Given the description of an element on the screen output the (x, y) to click on. 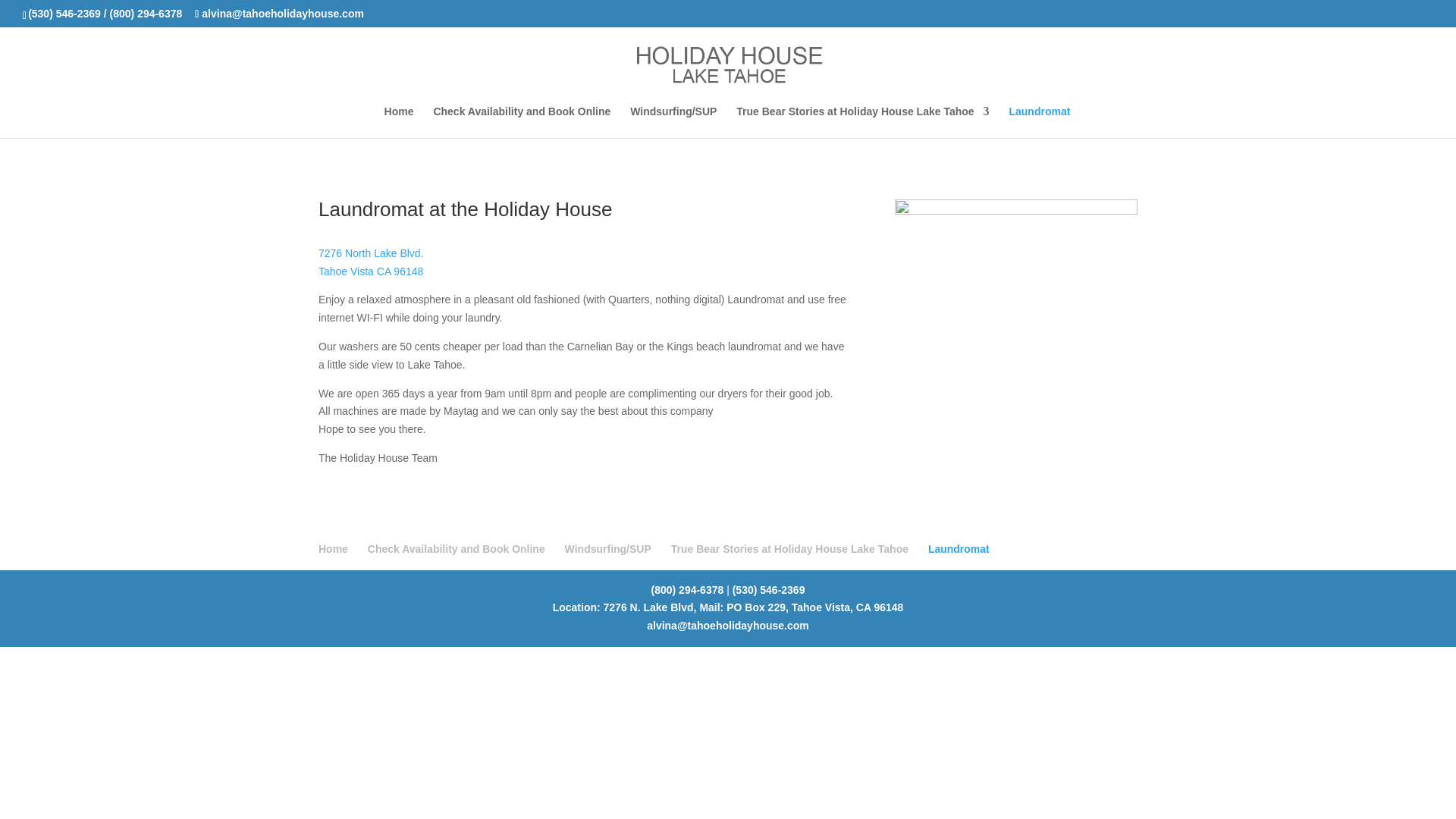
Check Availability and Book Online (456, 548)
True Bear Stories at Holiday House Lake Tahoe (789, 548)
Check Availability and Book Online (521, 122)
Laundromat (1039, 122)
Home (332, 548)
Laundromat (959, 548)
True Bear Stories at Holiday House Lake Tahoe (862, 122)
Home (370, 271)
